Given the description of an element on the screen output the (x, y) to click on. 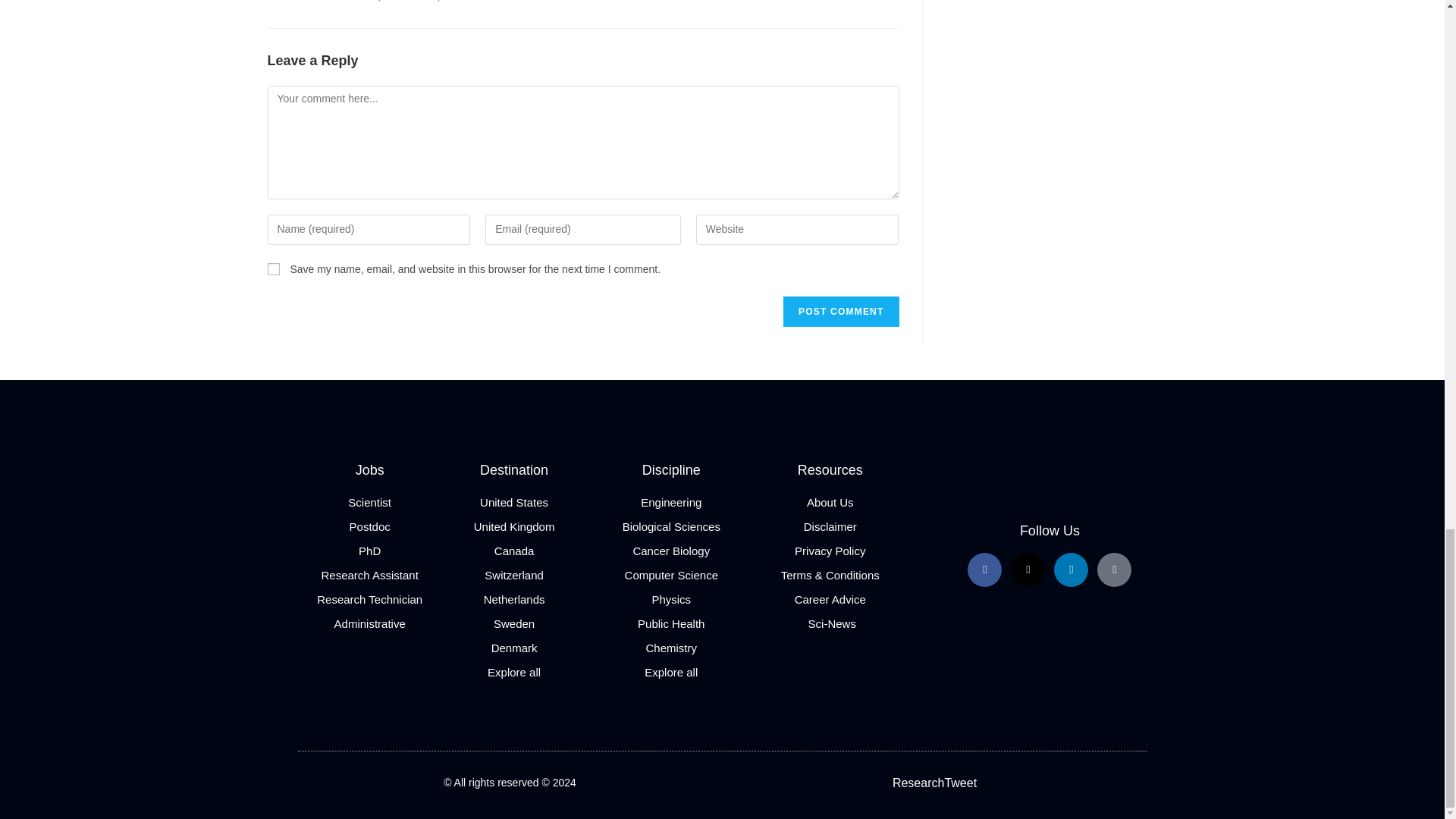
Administrative (368, 623)
United Kingdom (513, 526)
FUNDED PHD (408, 0)
Post Comment (840, 311)
PhD (368, 550)
Research Assistant (368, 575)
Postdoc (368, 526)
FULLY FUNDED PHD (336, 0)
yes (272, 268)
Scientist (368, 502)
United States (513, 502)
Post Comment (840, 311)
Research Technician (368, 598)
